Given the description of an element on the screen output the (x, y) to click on. 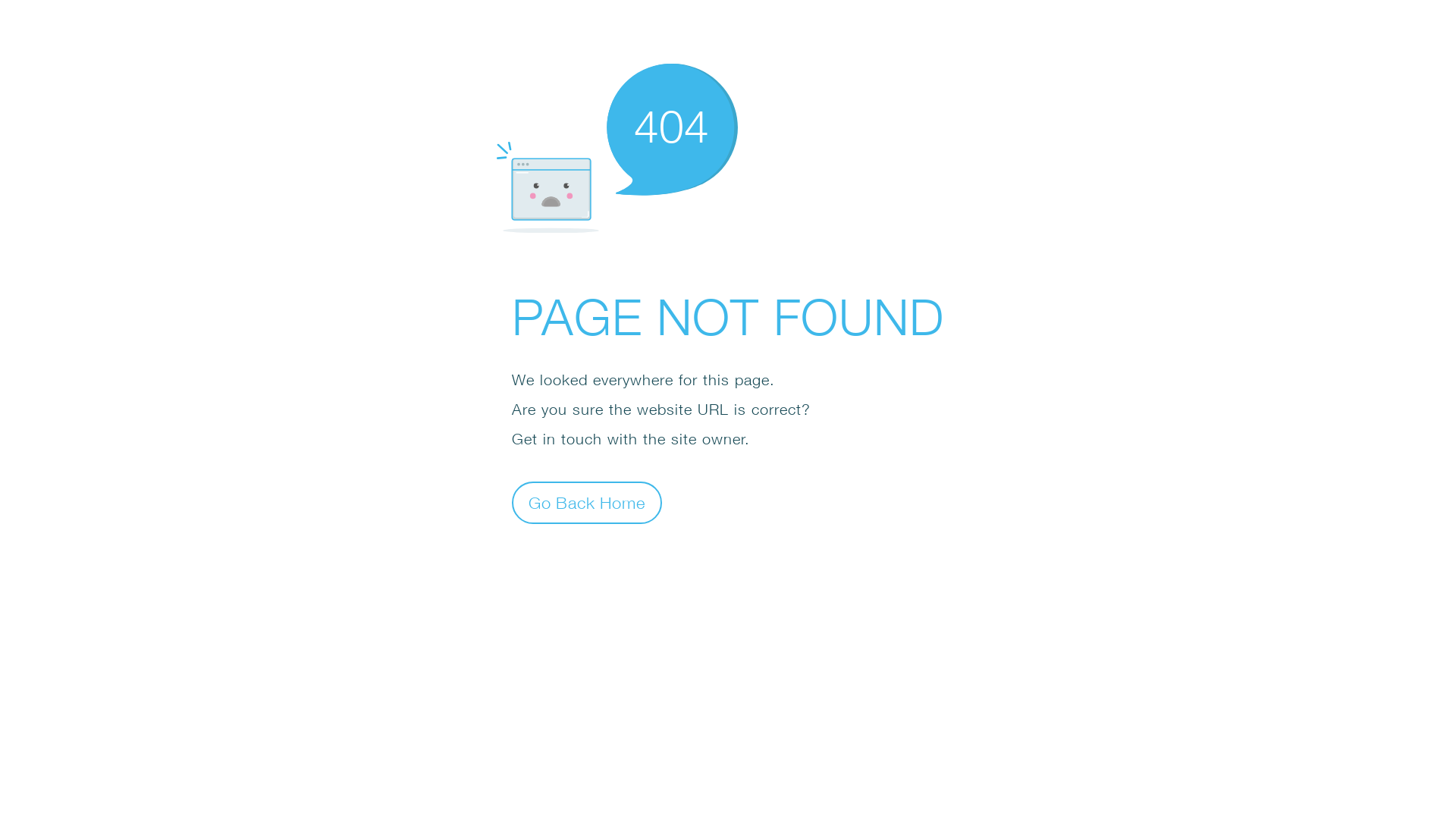
Go Back Home Element type: text (586, 502)
